Given the description of an element on the screen output the (x, y) to click on. 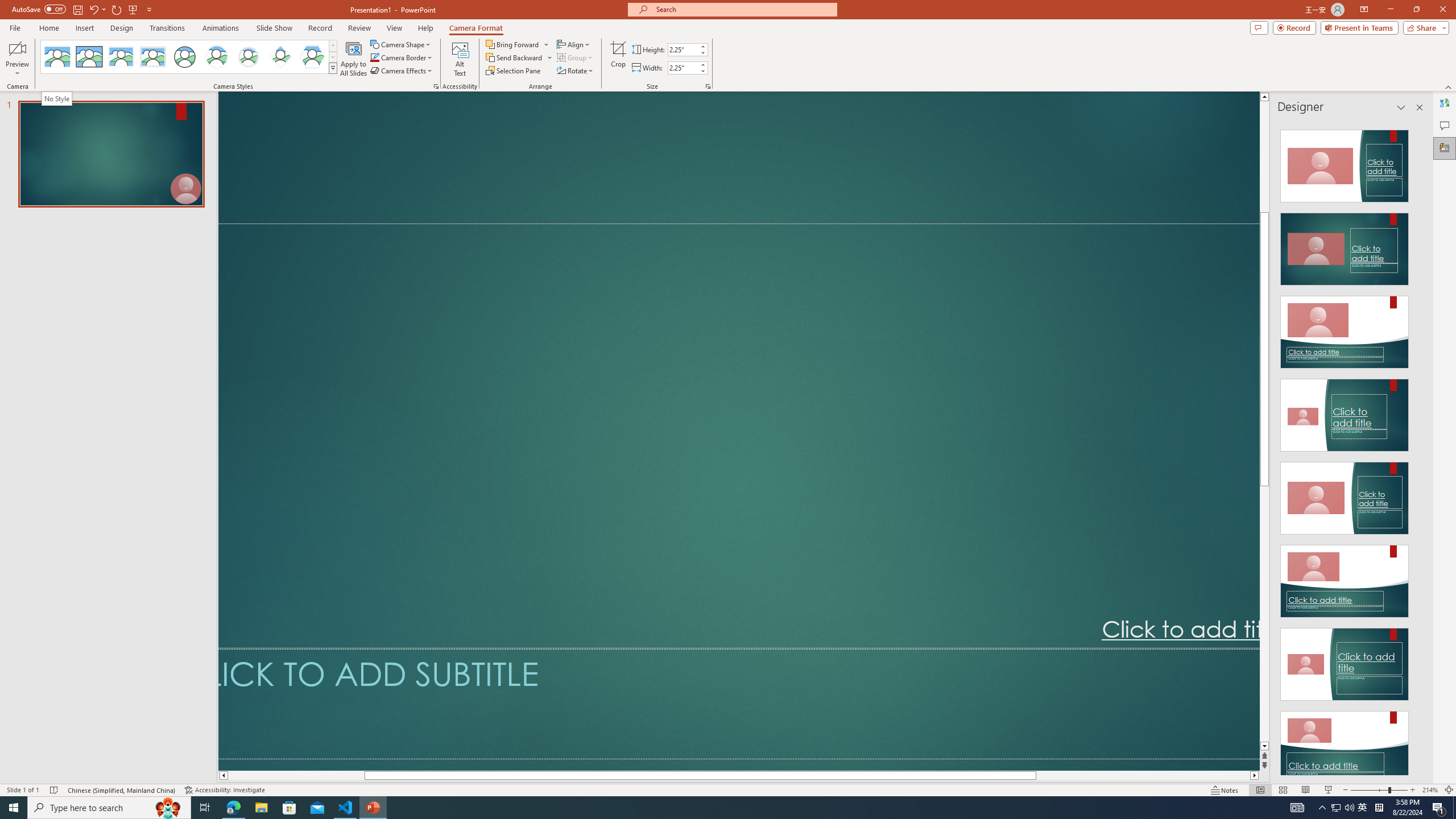
Crop (617, 58)
Enable Camera Preview (17, 48)
